Given the description of an element on the screen output the (x, y) to click on. 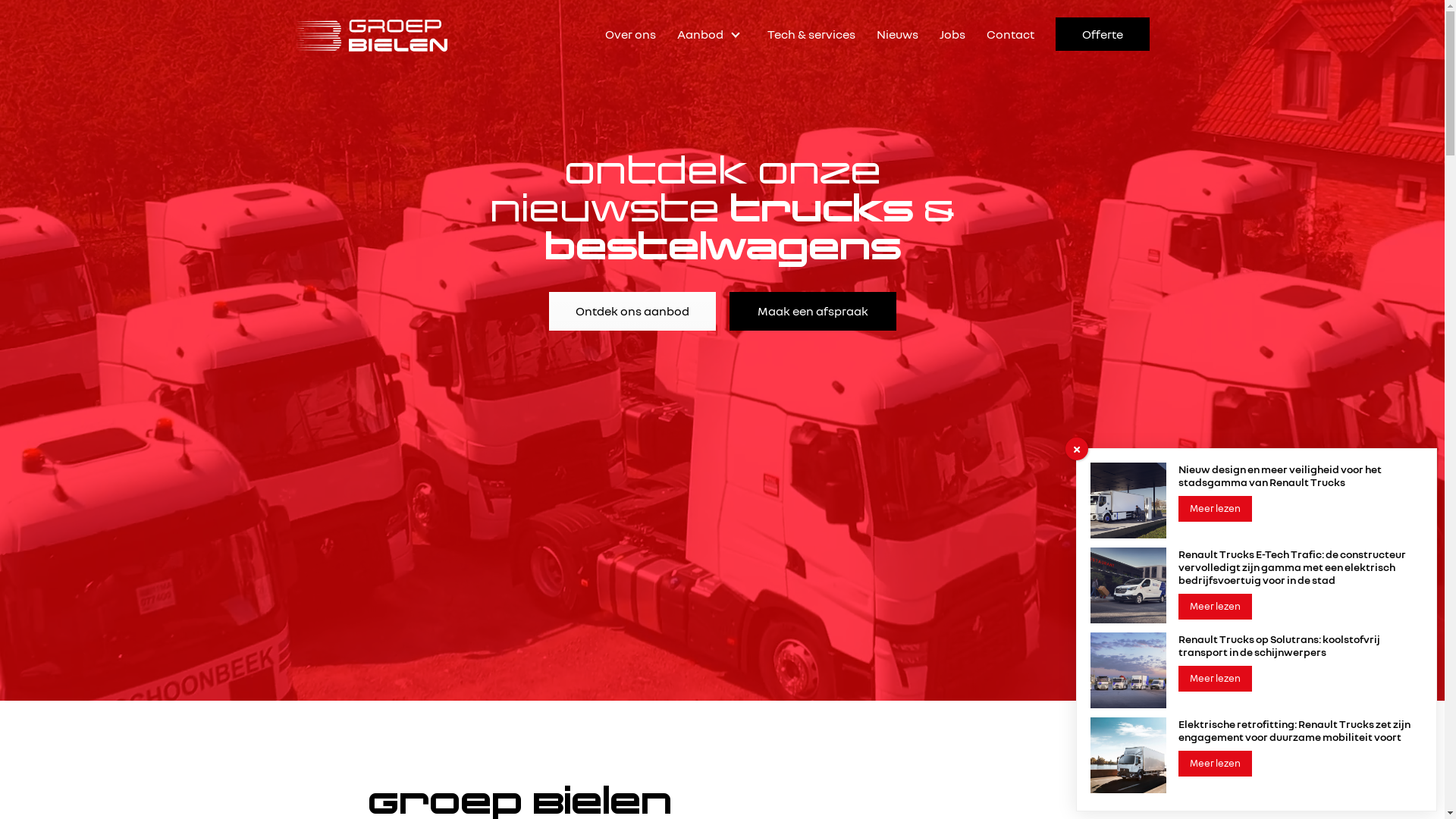
Maak een afspraak Element type: text (812, 310)
Bielen Element type: hover (371, 34)
Nieuws Element type: text (897, 34)
Tech & services Element type: text (811, 34)
Meer lezen Element type: text (1215, 606)
Offerte Element type: text (1102, 34)
Meer lezen Element type: text (1215, 678)
Meer lezen Element type: text (1215, 508)
Contact Element type: text (1009, 34)
Aanbod Element type: text (710, 34)
Over ons Element type: text (630, 34)
Meer lezen Element type: text (1215, 763)
Jobs Element type: text (951, 34)
Ontdek ons aanbod Element type: text (632, 310)
